Given the description of an element on the screen output the (x, y) to click on. 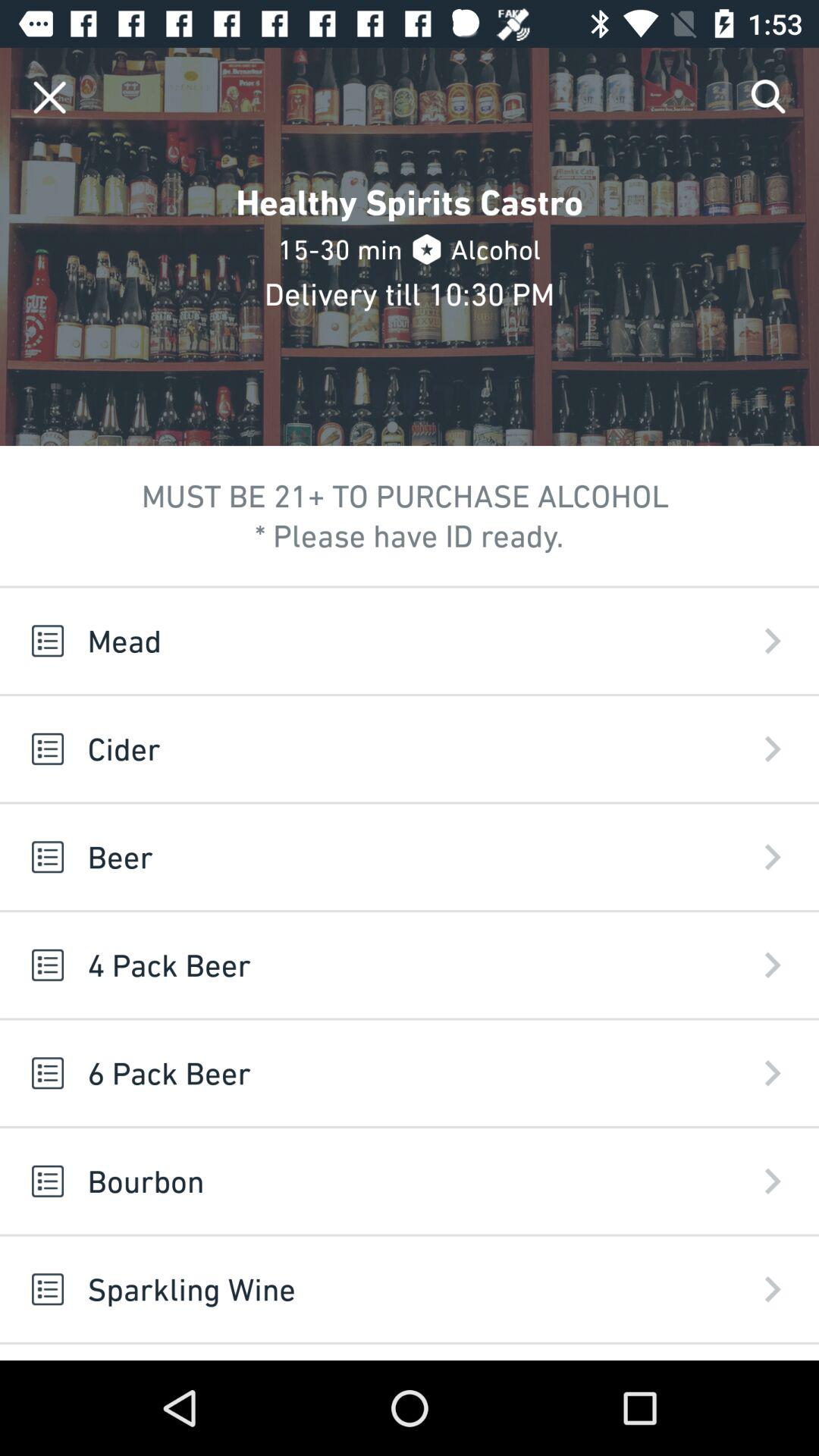
closes a menu (49, 97)
